Given the description of an element on the screen output the (x, y) to click on. 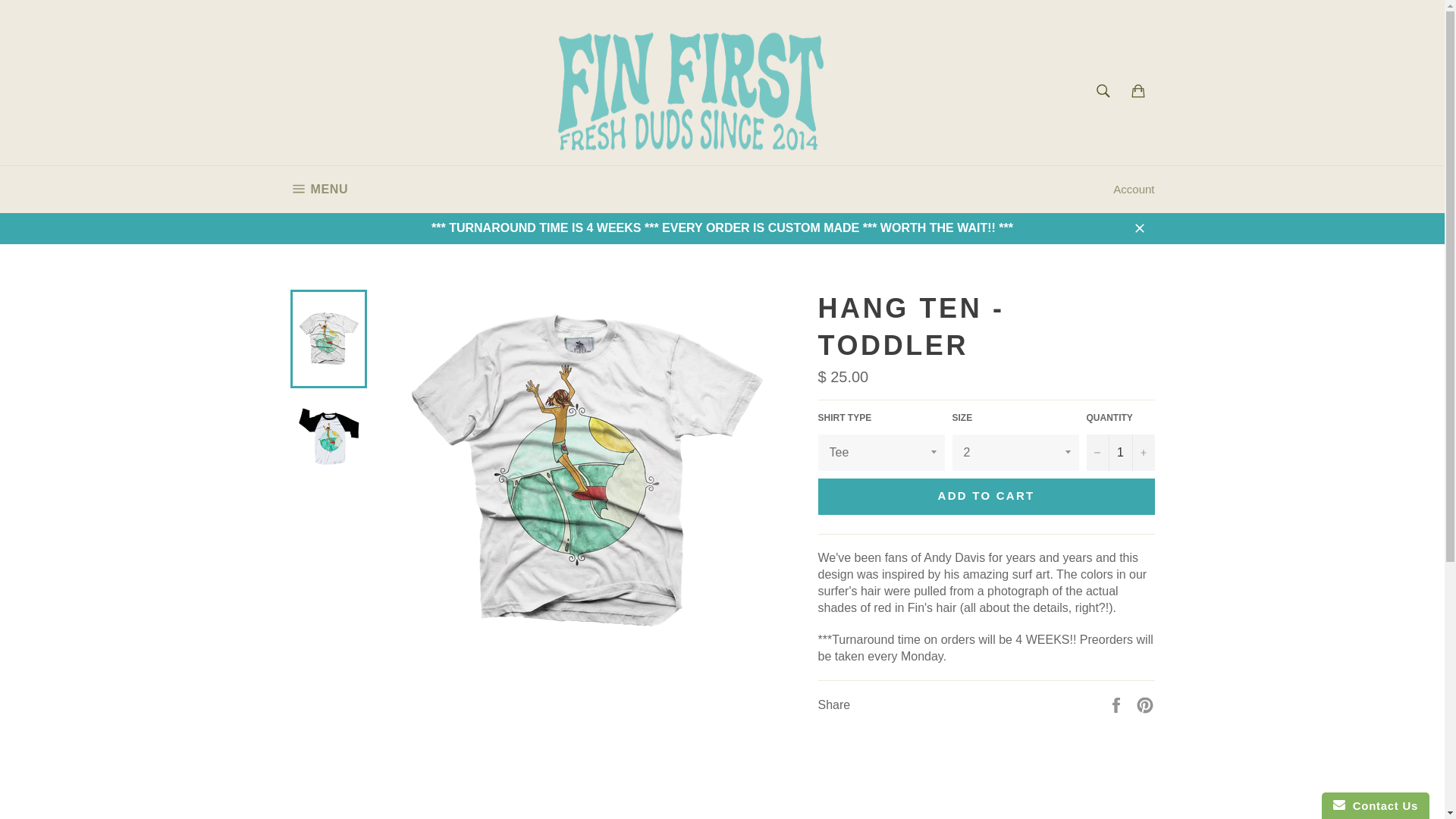
1 (1120, 452)
